Given the description of an element on the screen output the (x, y) to click on. 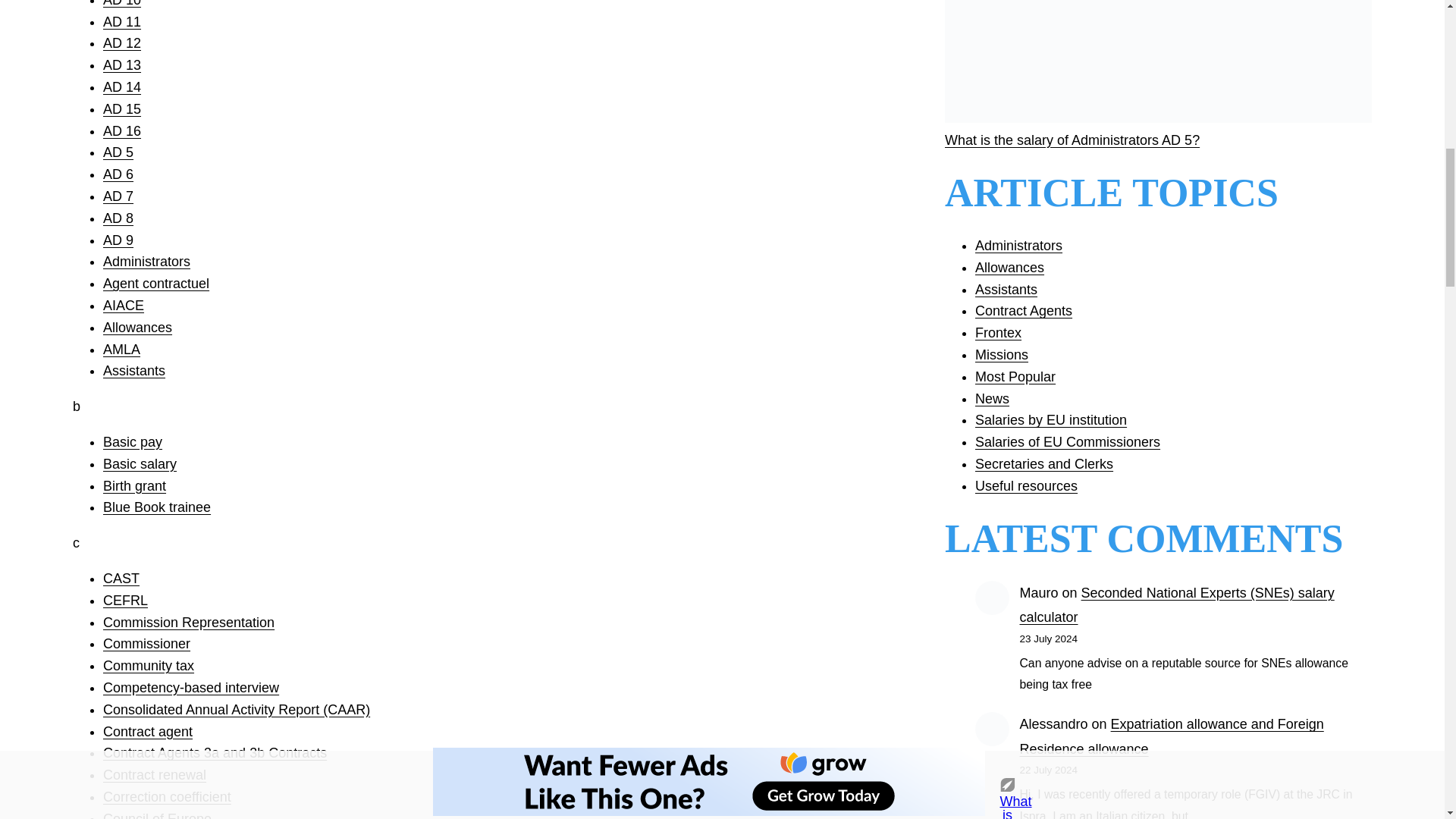
AD 10 (122, 3)
AD 11 (122, 21)
